Given the description of an element on the screen output the (x, y) to click on. 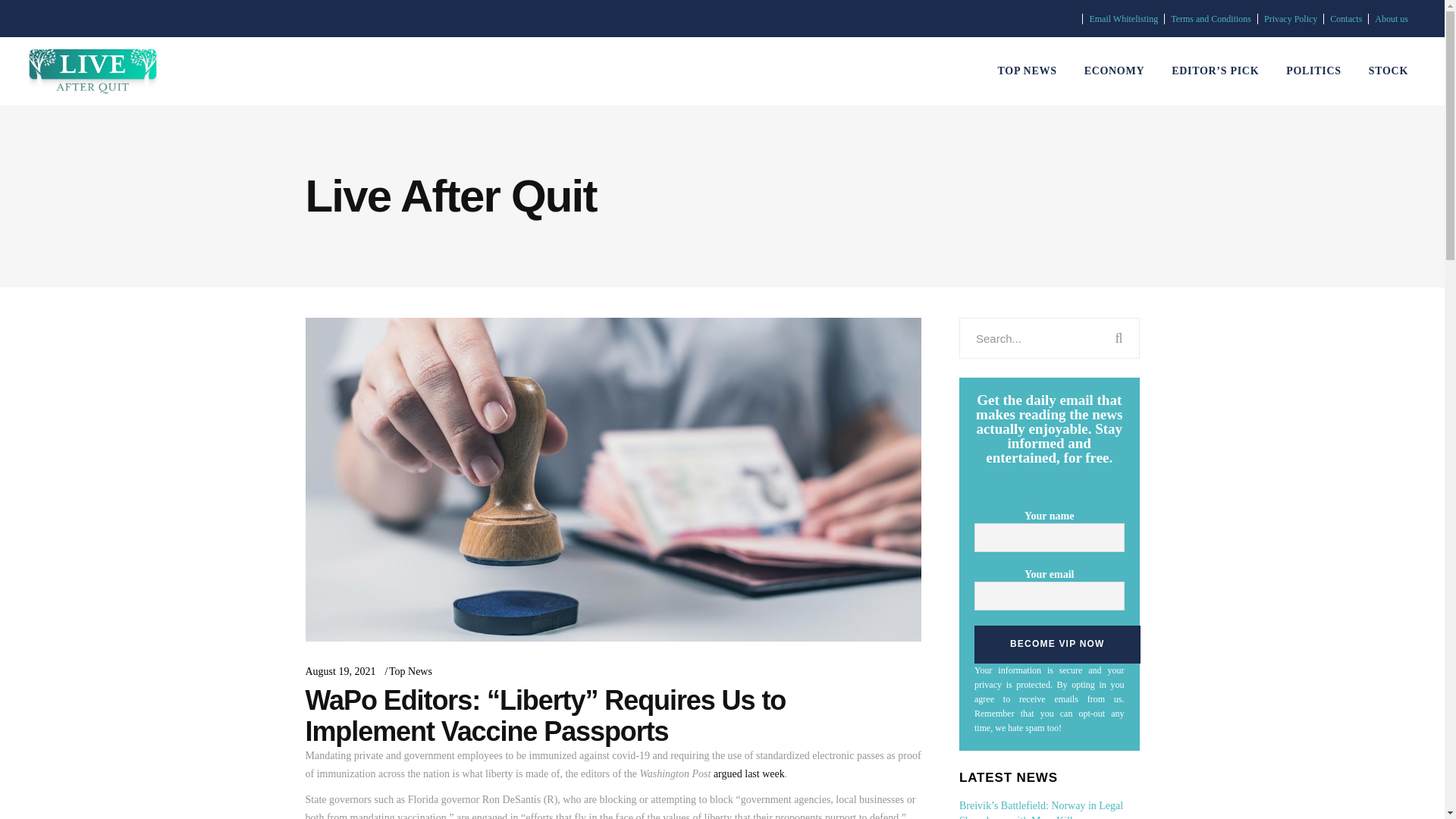
STOCK (1388, 70)
About us (1390, 18)
Top News (410, 671)
Terms and Conditions (1210, 18)
Search for: (1029, 337)
argued last week (748, 773)
ECONOMY (1114, 70)
Email Whitelisting (1123, 18)
Become VIP Now (1057, 644)
August 19, 2021 (339, 671)
